Given the description of an element on the screen output the (x, y) to click on. 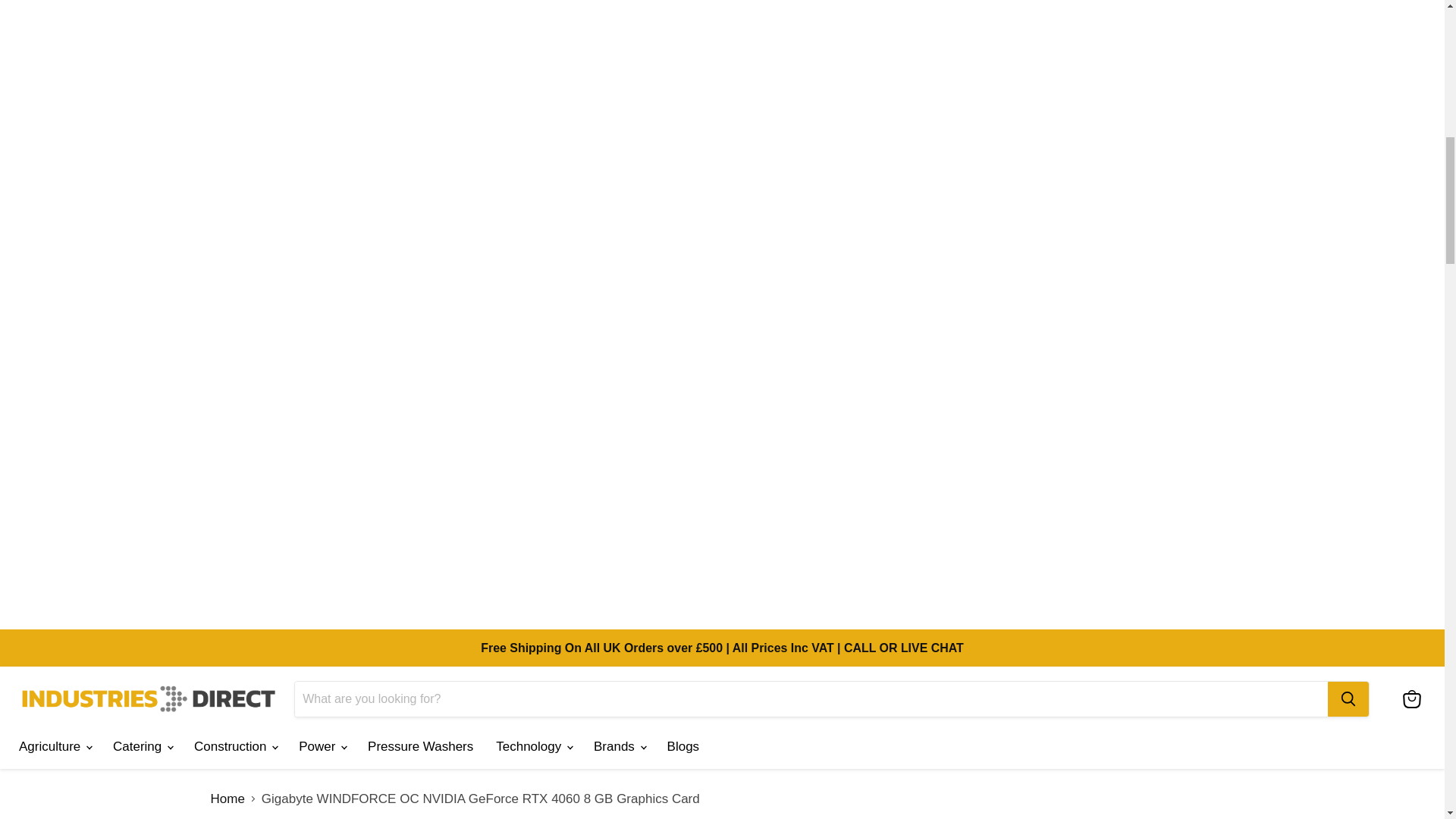
Blogs (683, 746)
Pressure Washers (420, 746)
View cart (1411, 698)
